Given the description of an element on the screen output the (x, y) to click on. 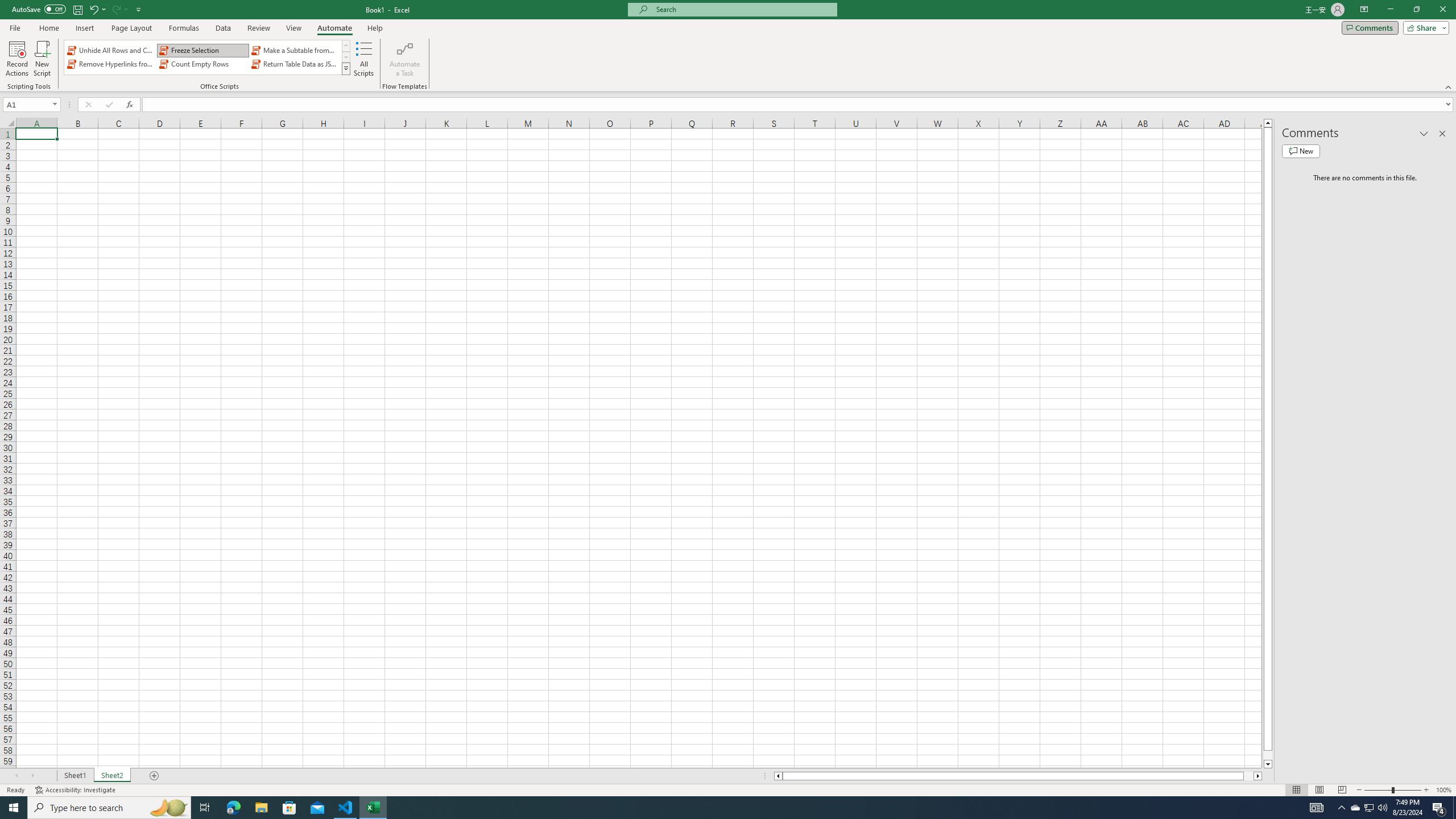
Office Scripts (346, 68)
